Given the description of an element on the screen output the (x, y) to click on. 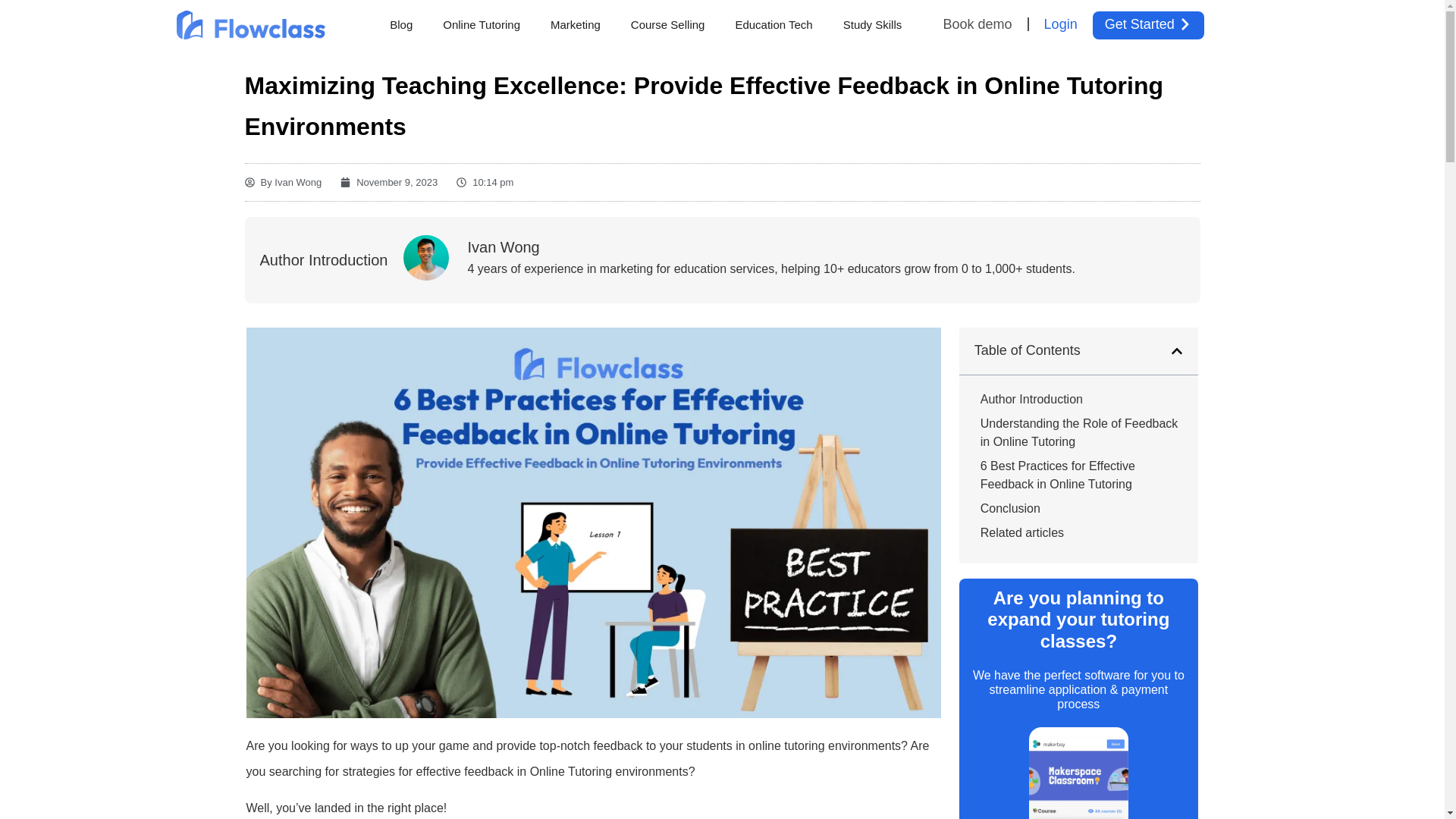
Course Selling (667, 24)
Online Tutoring (481, 24)
Blog (401, 24)
Conclusion (1010, 508)
Education Tech (773, 24)
Study Skills (872, 24)
Book demo (986, 24)
6 Best Practices for Effective Feedback in Online Tutoring (1080, 475)
Login (1060, 24)
Marketing (575, 24)
Related articles (1021, 533)
Get Started (1148, 24)
Author Introduction (1031, 399)
Understanding the Role of Feedback in Online Tutoring (1080, 432)
